Given the description of an element on the screen output the (x, y) to click on. 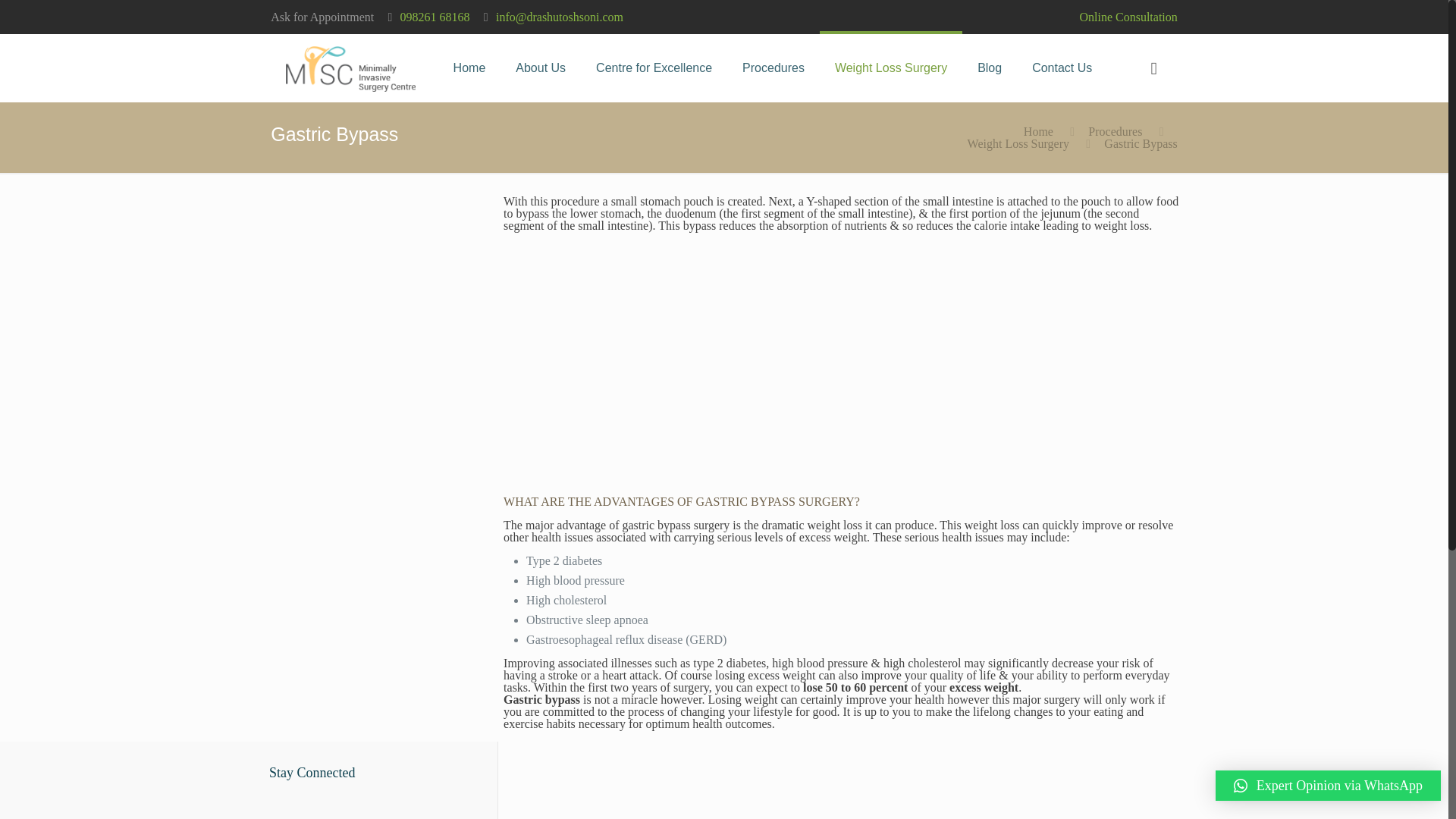
Dr Ashutosh Soni (349, 68)
Online Consultation (1127, 16)
Centre for Excellence (653, 68)
About Us (540, 68)
098261 68168 (435, 16)
Home (469, 68)
Procedures (772, 68)
